Given the description of an element on the screen output the (x, y) to click on. 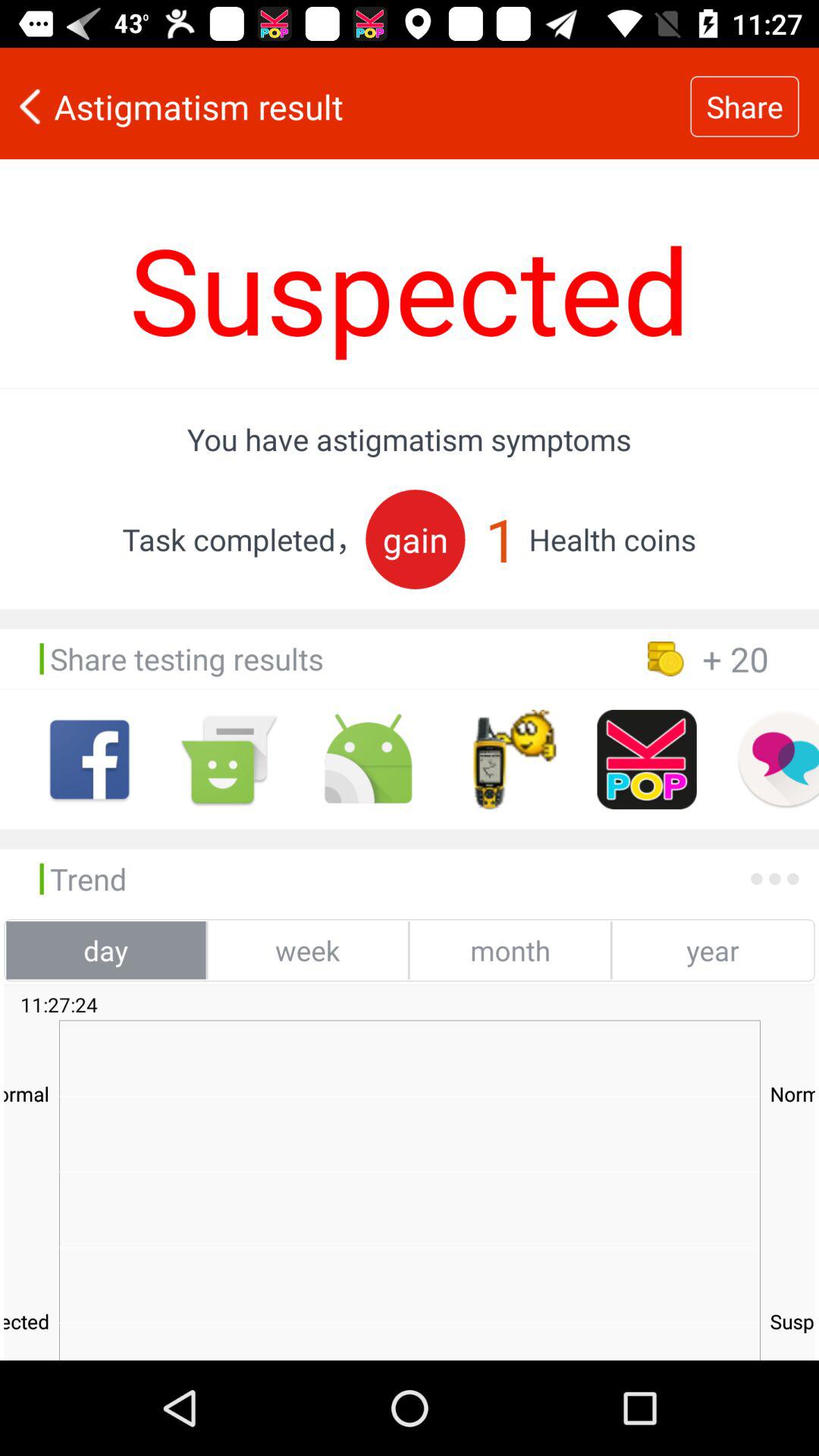
share results in text message (228, 759)
